Given the description of an element on the screen output the (x, y) to click on. 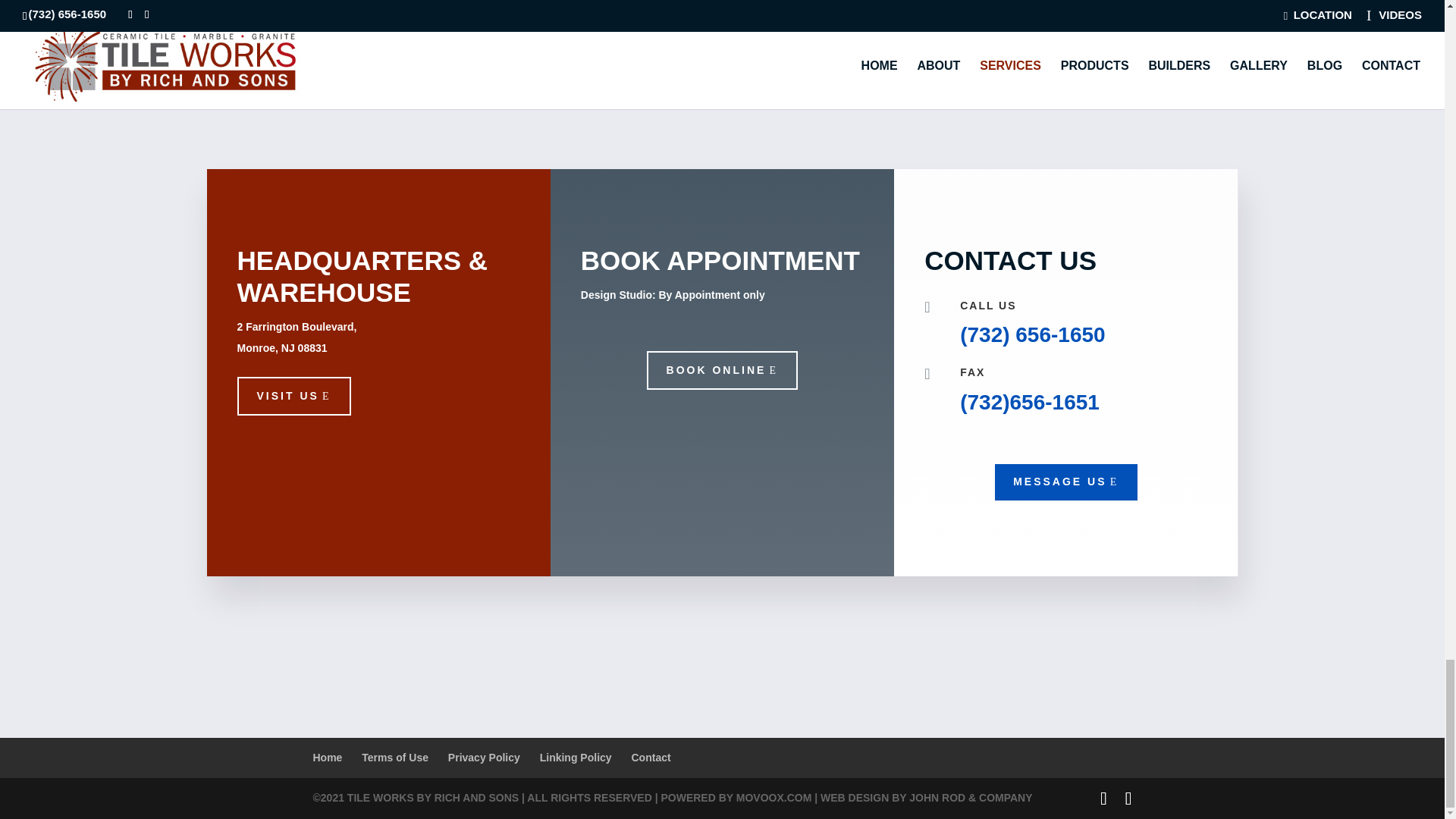
VISIT US (292, 396)
BOOK ONLINE (721, 370)
Linking Policy (575, 757)
Privacy Policy (483, 757)
Terms of Use (394, 757)
MESSAGE US (1065, 482)
Home (327, 757)
Contact (649, 757)
